Given the description of an element on the screen output the (x, y) to click on. 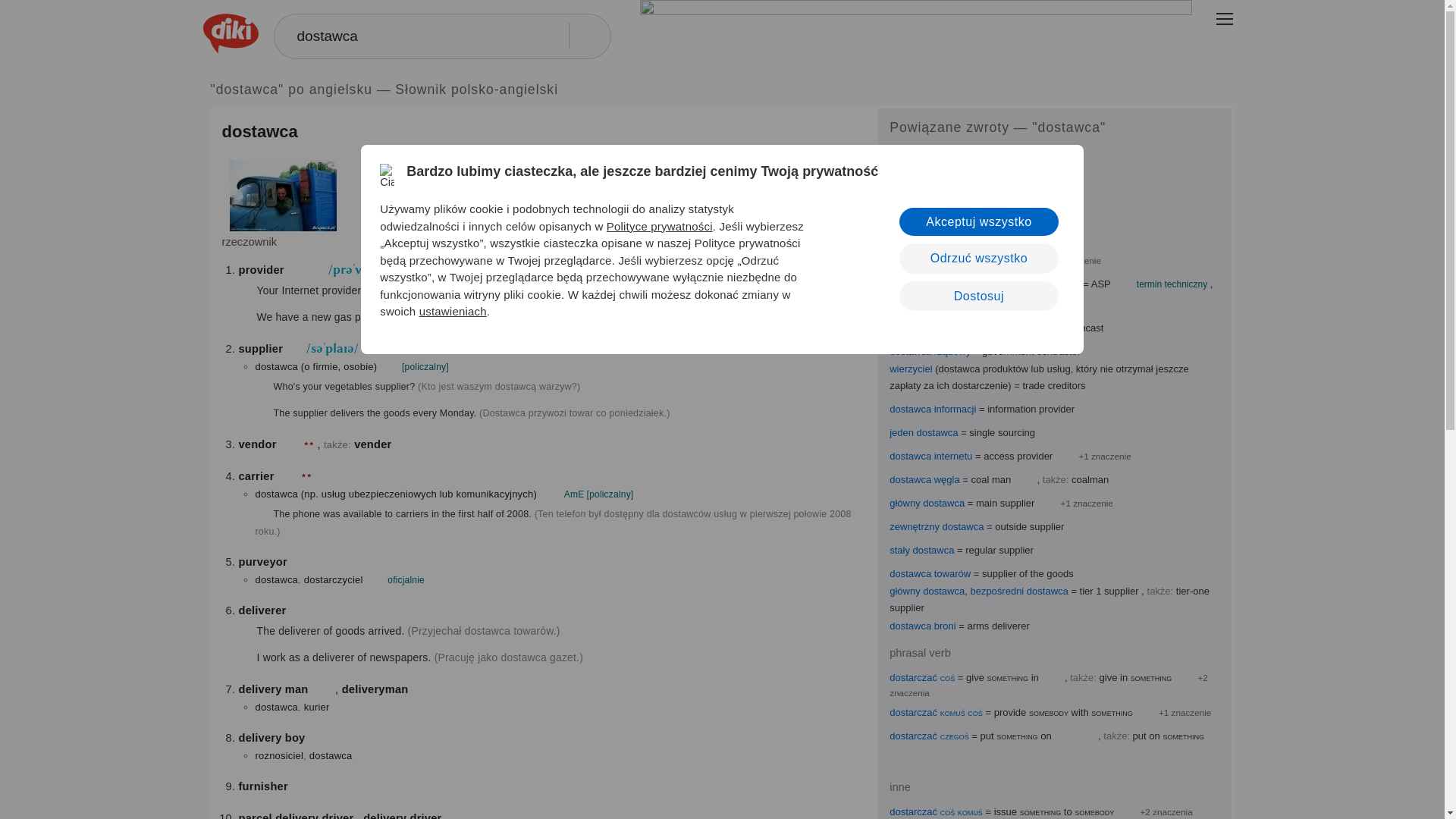
British English (288, 476)
British English (295, 348)
American English (242, 316)
vendor (257, 444)
supplier (260, 348)
British English (296, 269)
provider (260, 269)
American English (318, 269)
dostawca (441, 35)
British English (404, 444)
American English (260, 386)
British English (289, 444)
American English (260, 412)
Szukaj (587, 35)
vender (372, 444)
